Given the description of an element on the screen output the (x, y) to click on. 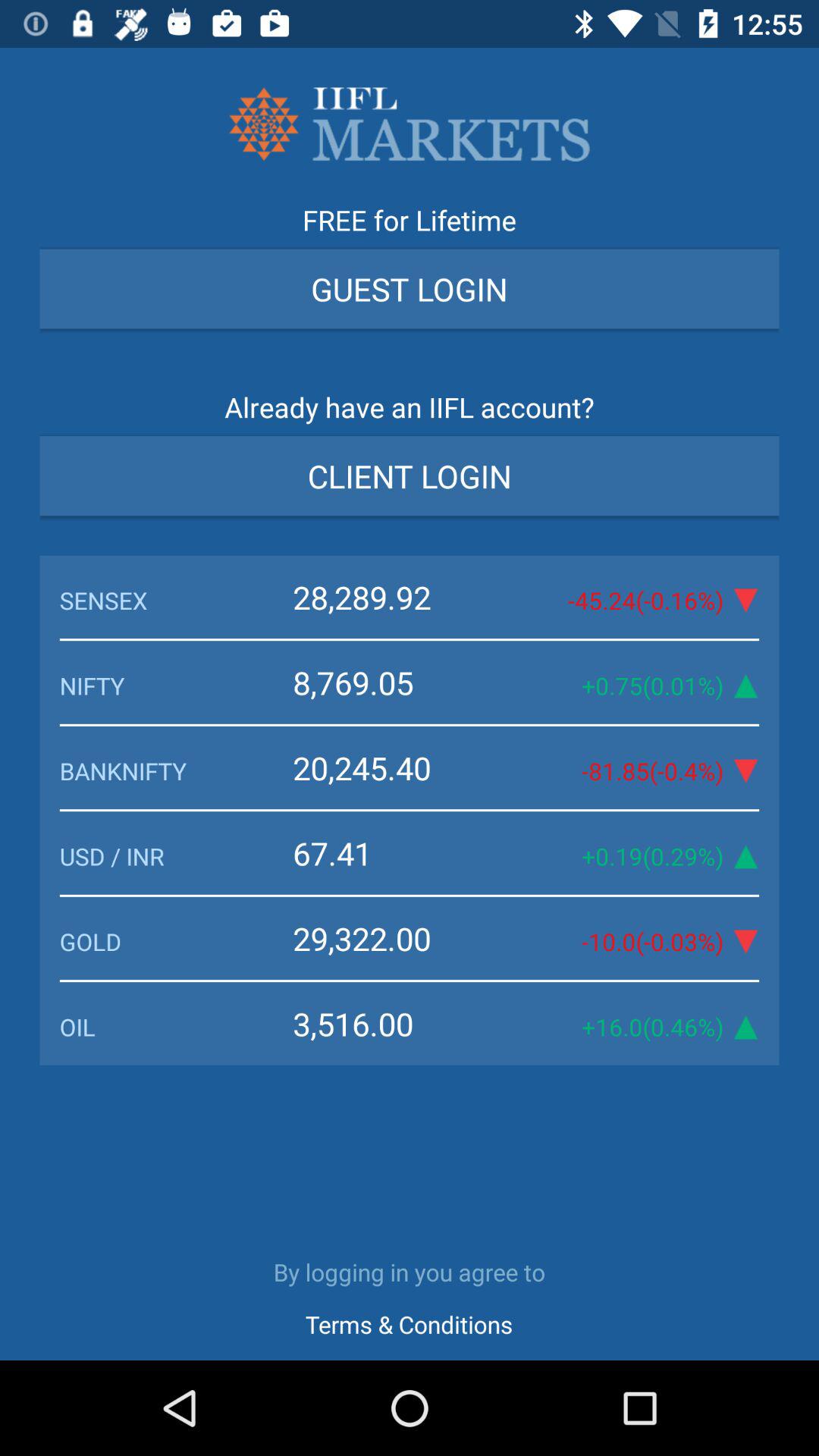
press item to the left of 10 0 0 (397, 938)
